Given the description of an element on the screen output the (x, y) to click on. 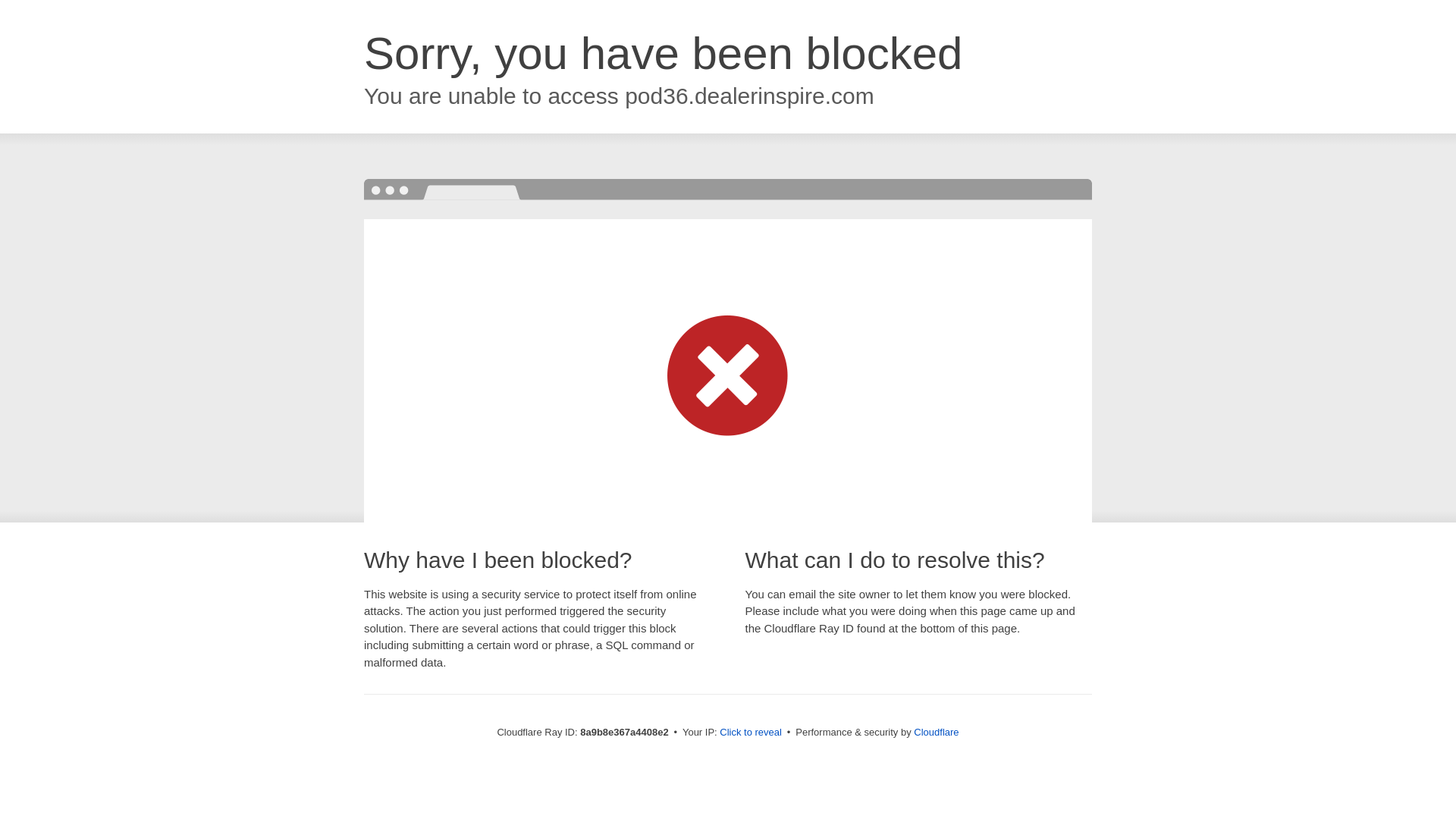
Cloudflare (936, 731)
Click to reveal (750, 732)
